Given the description of an element on the screen output the (x, y) to click on. 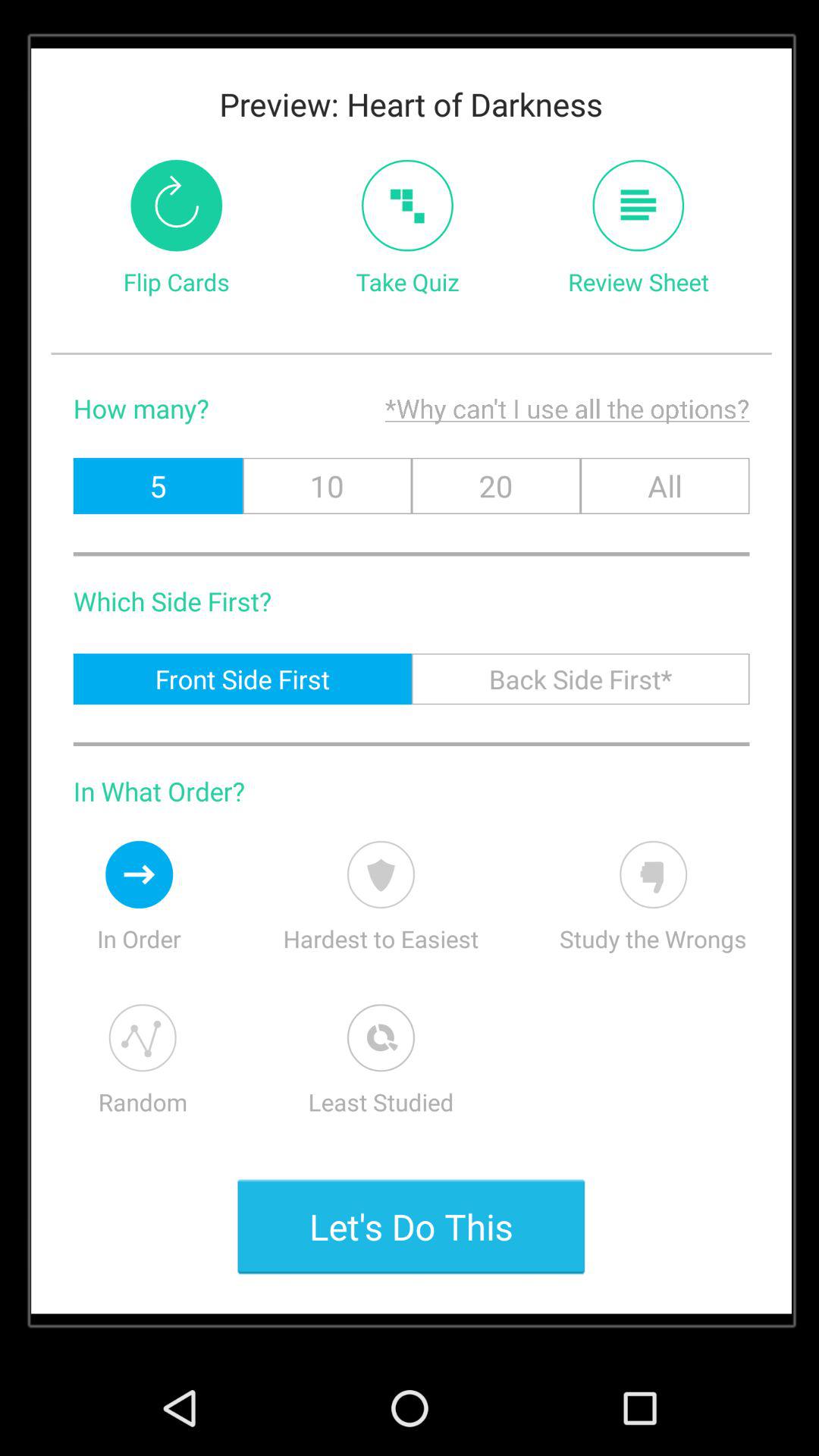
press icon next to the flip cards icon (407, 205)
